Given the description of an element on the screen output the (x, y) to click on. 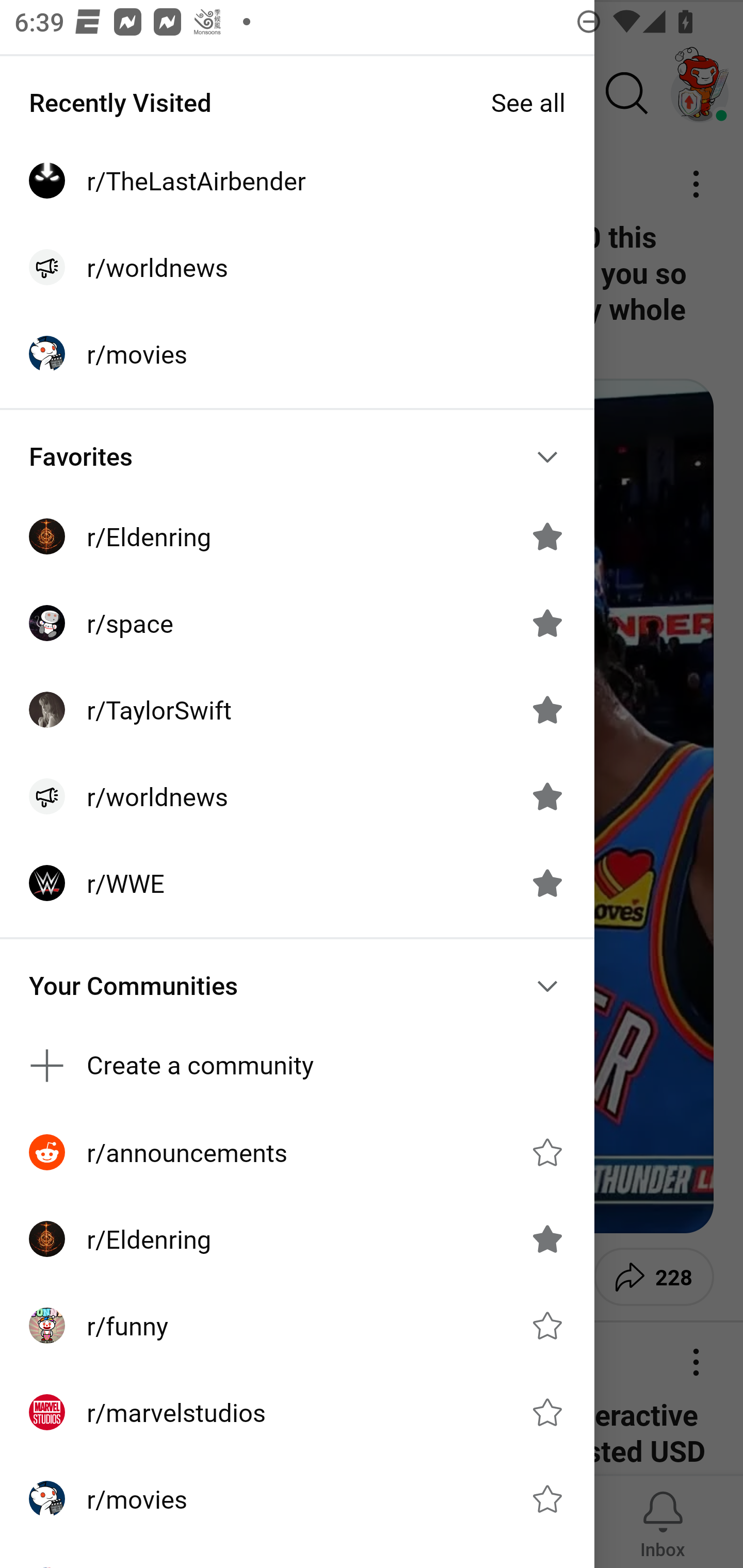
Recently Visited See all (297, 102)
See all (528, 102)
r/TheLastAirbender (297, 180)
r/worldnews (297, 267)
r/movies (297, 353)
Favorites (297, 456)
r/Eldenring Unfavorite r/Eldenring (297, 536)
Unfavorite r/Eldenring (546, 536)
r/space Unfavorite r/space (297, 623)
Unfavorite r/space (546, 623)
r/TaylorSwift Unfavorite r/TaylorSwift (297, 709)
Unfavorite r/TaylorSwift (546, 709)
r/worldnews Unfavorite r/worldnews (297, 796)
Unfavorite r/worldnews (546, 796)
r/WWE Unfavorite r/WWE (297, 883)
Unfavorite r/WWE (546, 882)
Your Communities (297, 986)
Create a community (297, 1065)
r/announcements Favorite r/announcements (297, 1151)
Favorite r/announcements (546, 1152)
r/Eldenring Unfavorite r/Eldenring (297, 1238)
Unfavorite r/Eldenring (546, 1238)
r/funny Favorite r/funny (297, 1325)
Favorite r/funny (546, 1325)
r/marvelstudios Favorite r/marvelstudios (297, 1411)
Favorite r/marvelstudios (546, 1411)
r/movies Favorite r/movies (297, 1498)
Favorite r/movies (546, 1498)
